Given the description of an element on the screen output the (x, y) to click on. 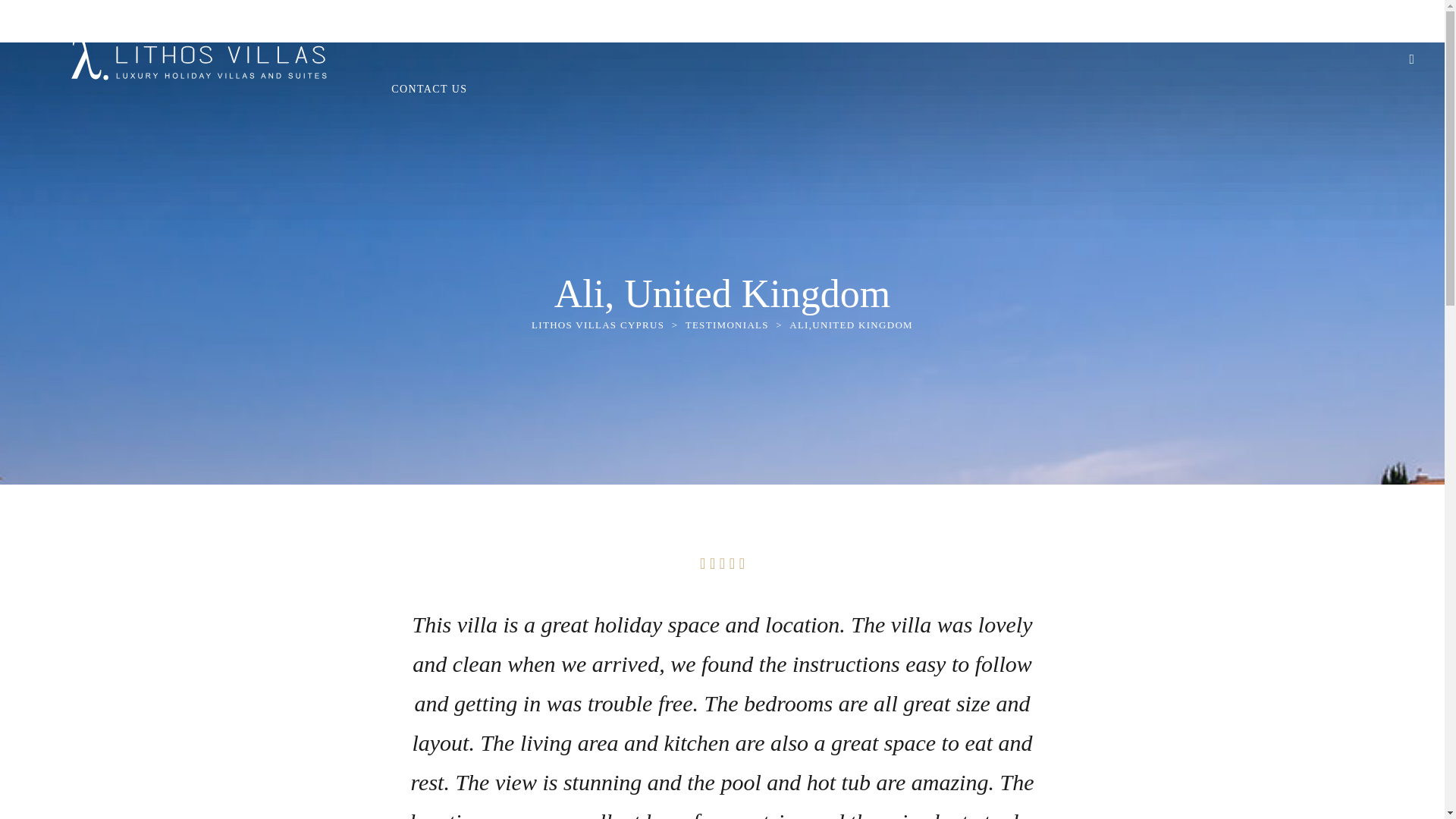
ABOUT US (959, 29)
CYPRUS BLOG (857, 29)
WEDDING VILLAS (631, 29)
Go to Testimonials. (726, 324)
TRAVEL TIPS (749, 29)
CONTACT US (429, 87)
CYPRUS VILLAS (502, 29)
TESTIMONIALS (726, 324)
Go to Lithos Villas Cyprus. (597, 324)
LITHOS VILLAS CYPRUS (597, 324)
